Given the description of an element on the screen output the (x, y) to click on. 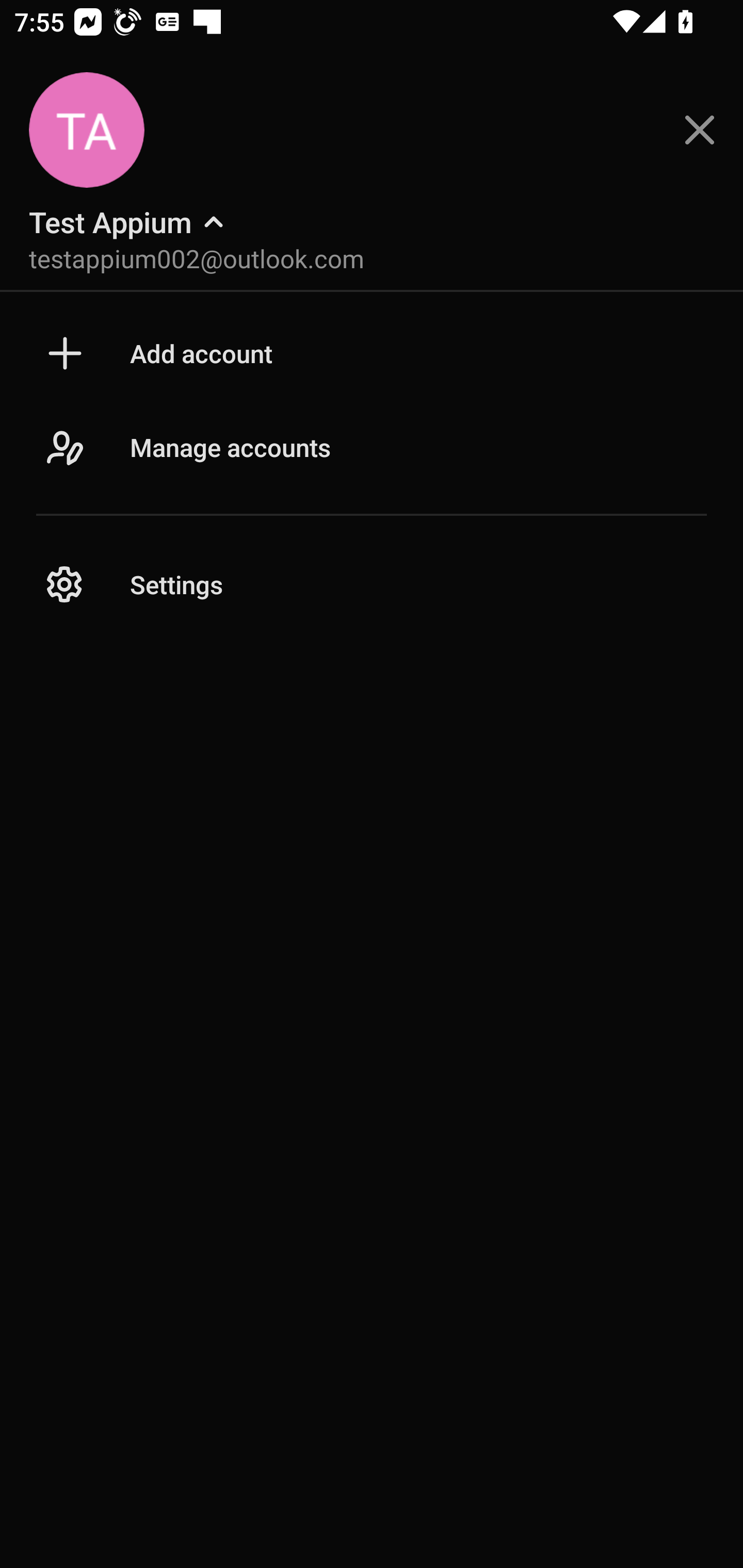
Close (699, 130)
Add account (371, 352)
Manage accounts (371, 468)
Settings (371, 584)
